Given the description of an element on the screen output the (x, y) to click on. 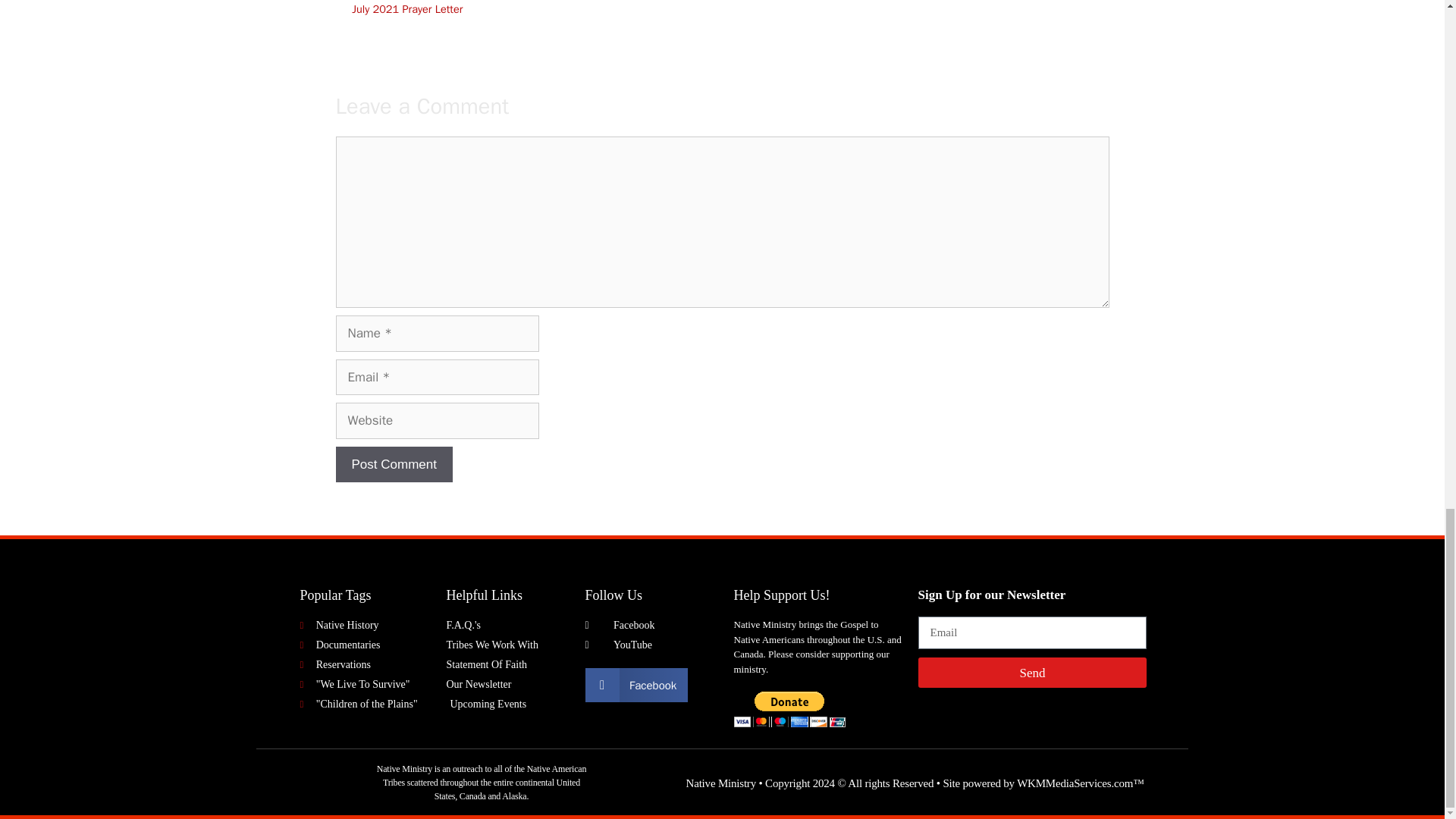
PayPal - The safer, easier way to pay online! (789, 709)
Post Comment (392, 464)
Scroll back to top (1406, 177)
